Given the description of an element on the screen output the (x, y) to click on. 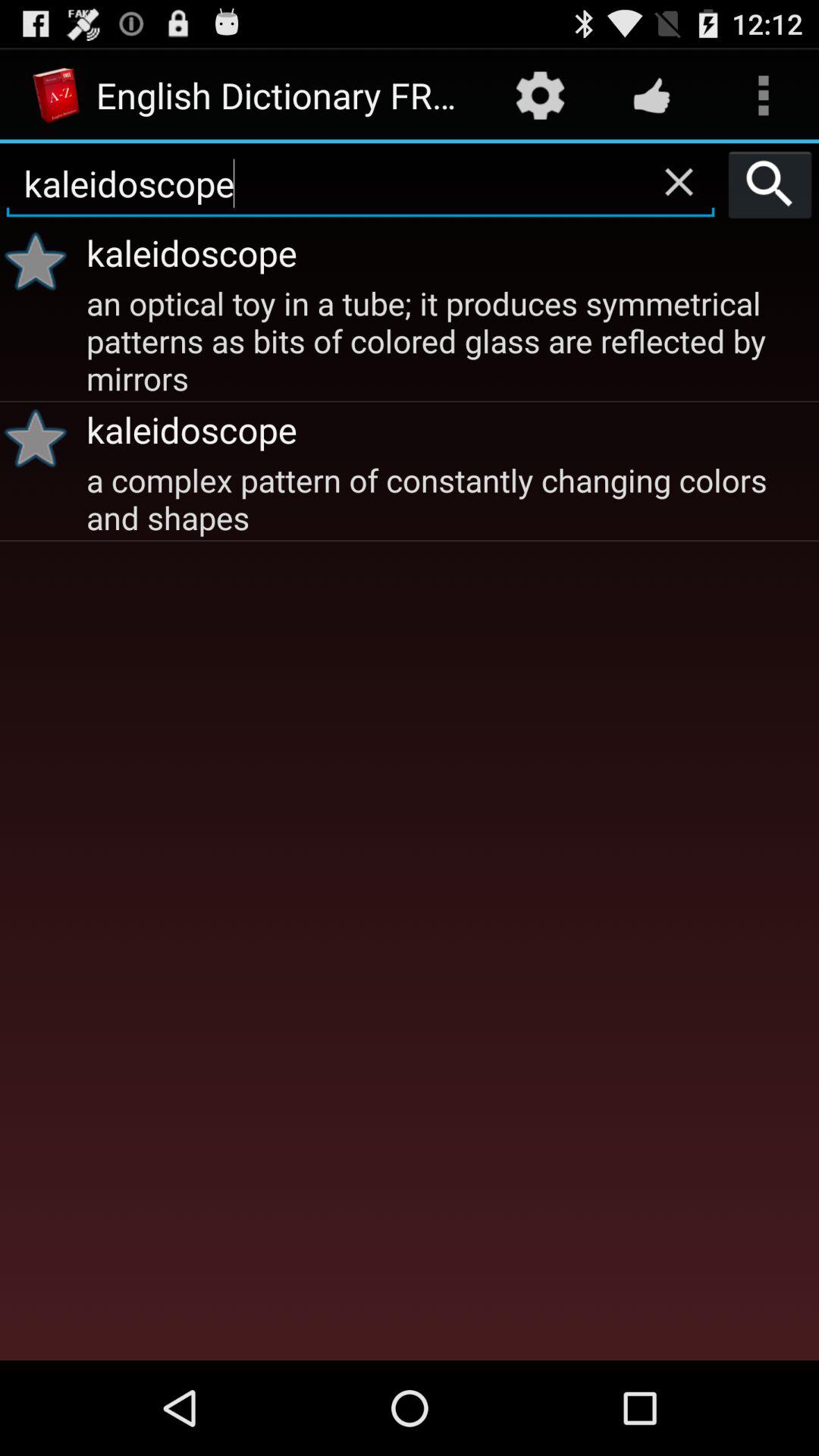
turn on icon above the kaleidoscope app (770, 184)
